Given the description of an element on the screen output the (x, y) to click on. 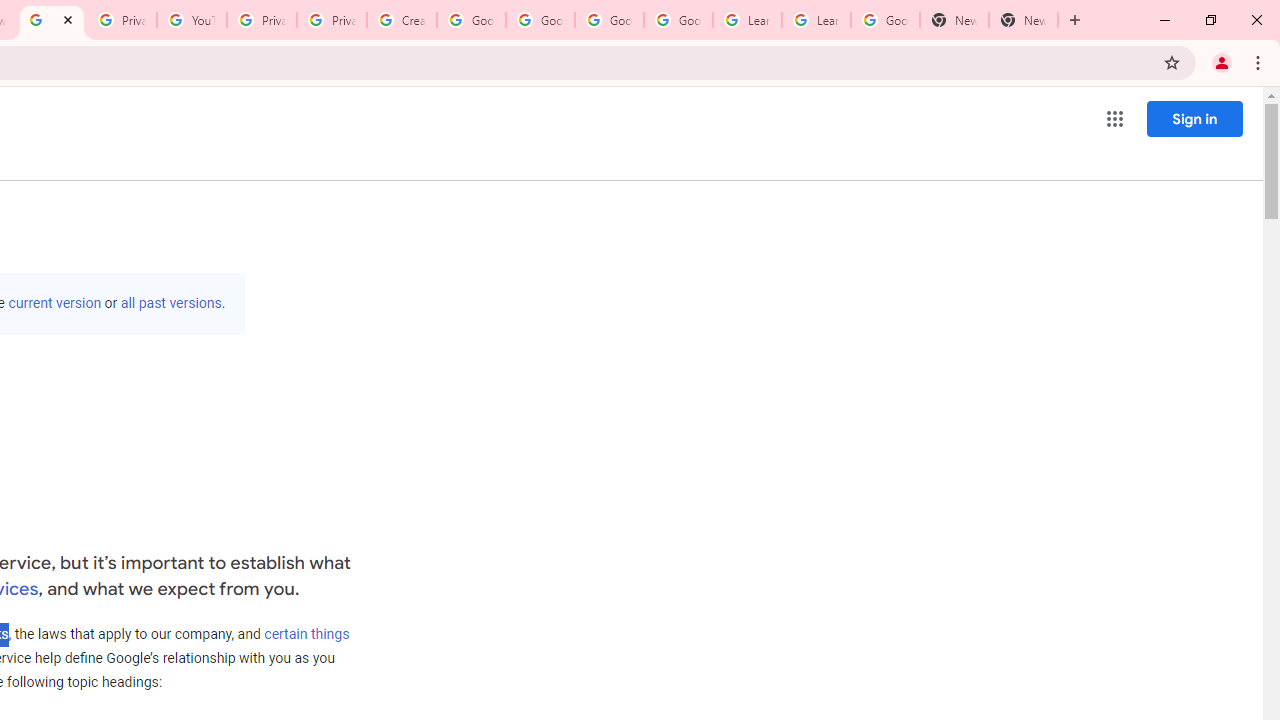
New Tab (954, 20)
New Tab (1023, 20)
YouTube (191, 20)
Google Account Help (470, 20)
Google Account (885, 20)
current version (54, 303)
Google Account Help (608, 20)
Google Account Help (539, 20)
